Given the description of an element on the screen output the (x, y) to click on. 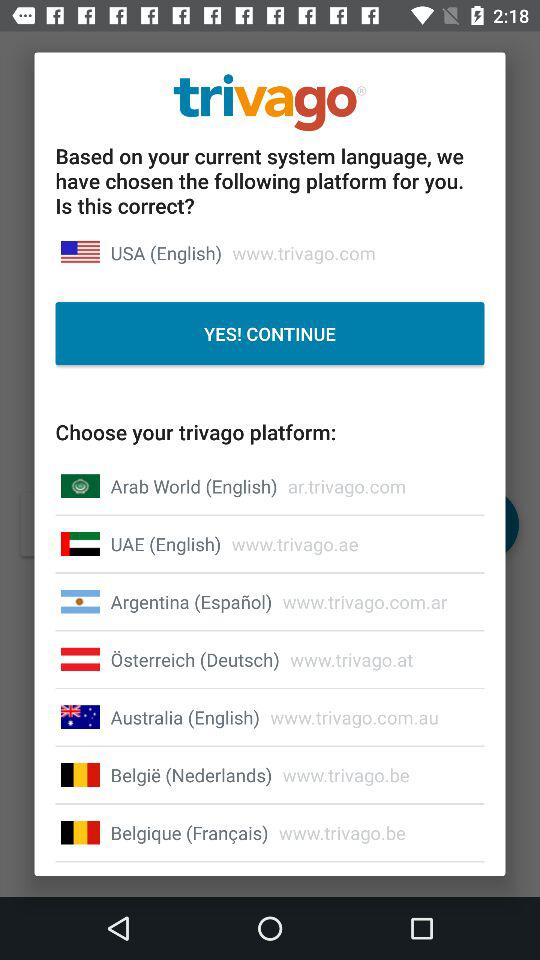
choose item next to www.trivago.at icon (194, 659)
